Given the description of an element on the screen output the (x, y) to click on. 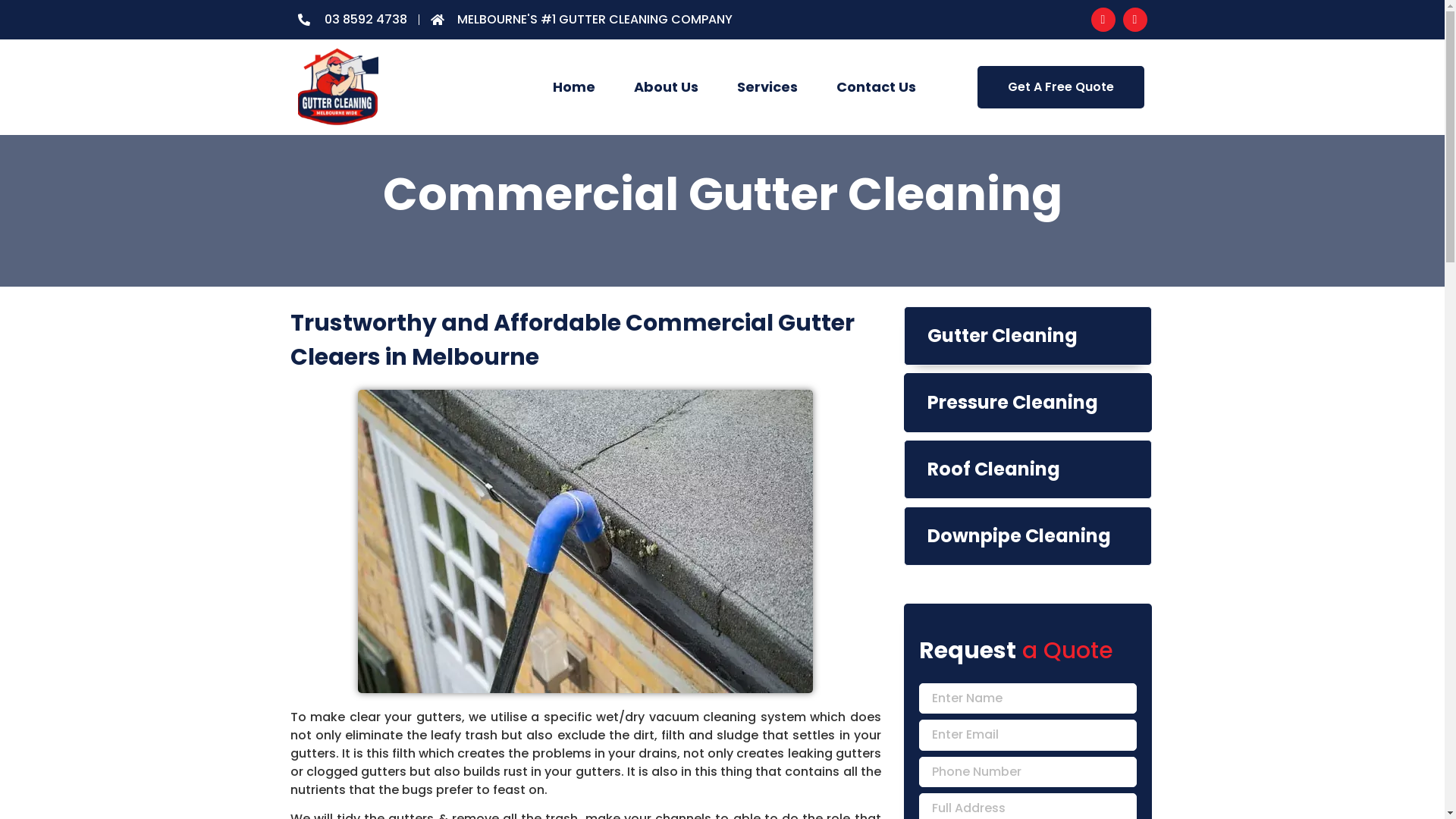
MELBOURNE'S #1 GUTTER CLEANING COMPANY Element type: text (581, 19)
Pressure Cleaning Element type: text (1027, 402)
Home Element type: text (572, 86)
Contact Us Element type: text (875, 86)
03 8592 4738 Element type: text (351, 19)
Get A Free Quote Element type: text (1060, 86)
Services Element type: text (766, 86)
Downpipe Cleaning Element type: text (1027, 535)
Gutter Cleaning Element type: text (1027, 335)
Roof Cleaning Element type: text (1027, 468)
About Us Element type: text (665, 86)
